Given the description of an element on the screen output the (x, y) to click on. 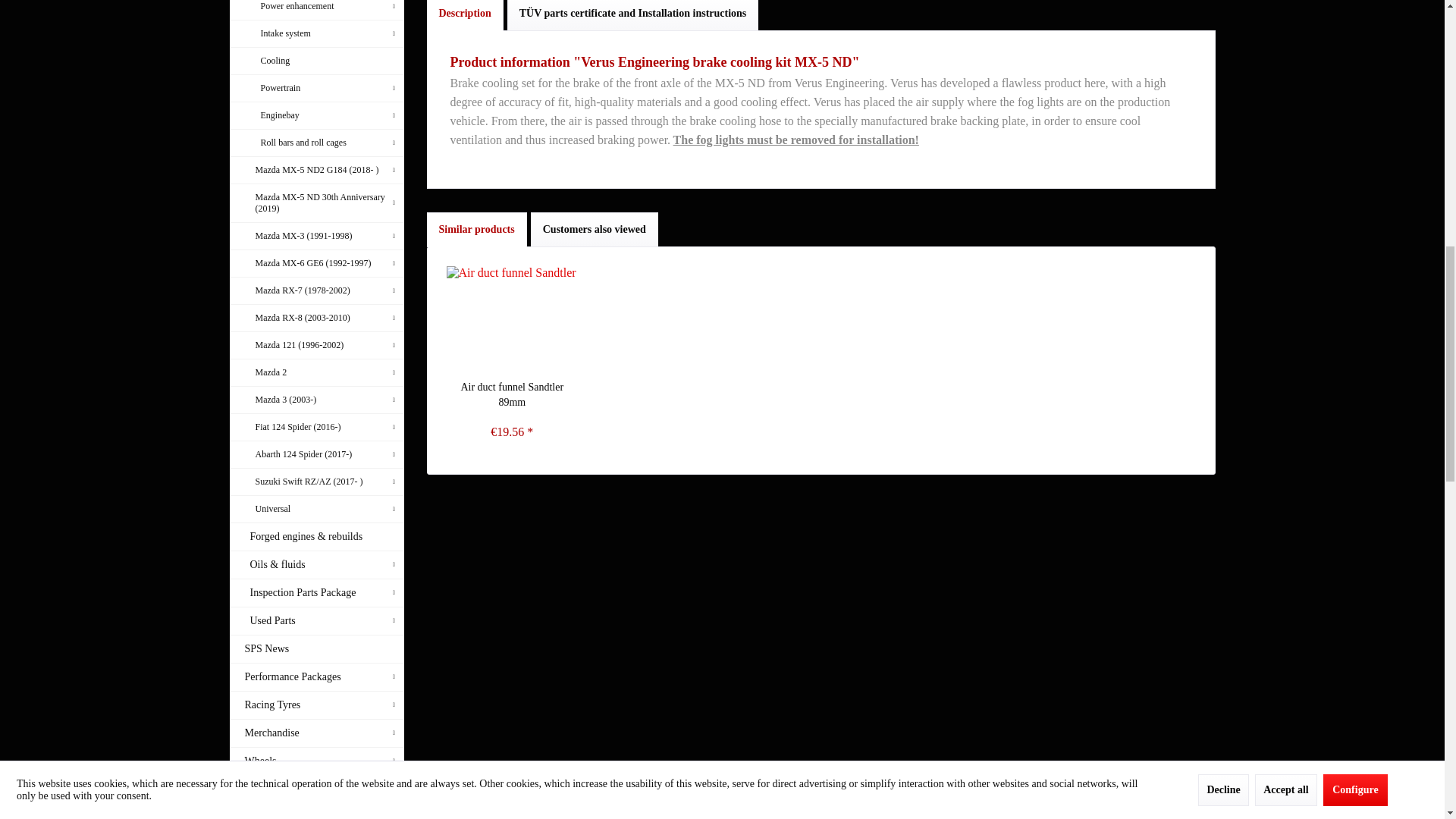
Customers also viewed (594, 229)
Similar products (475, 229)
